Given the description of an element on the screen output the (x, y) to click on. 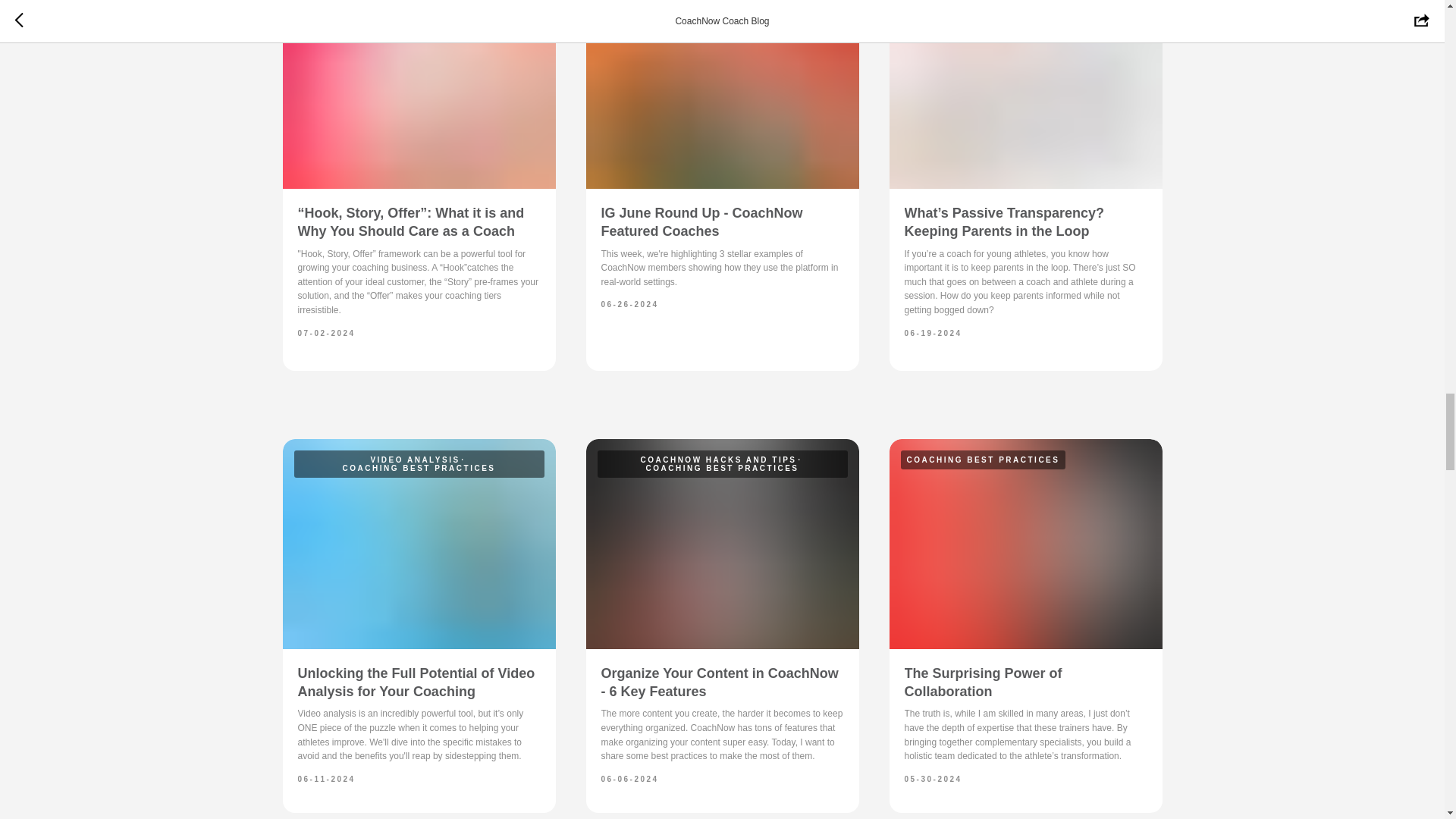
IG June Round Up - CoachNow Featured Coaches (700, 222)
Organize Your Content in CoachNow - 6 Key Features (718, 682)
The Surprising Power of Collaboration (982, 682)
